Given the description of an element on the screen output the (x, y) to click on. 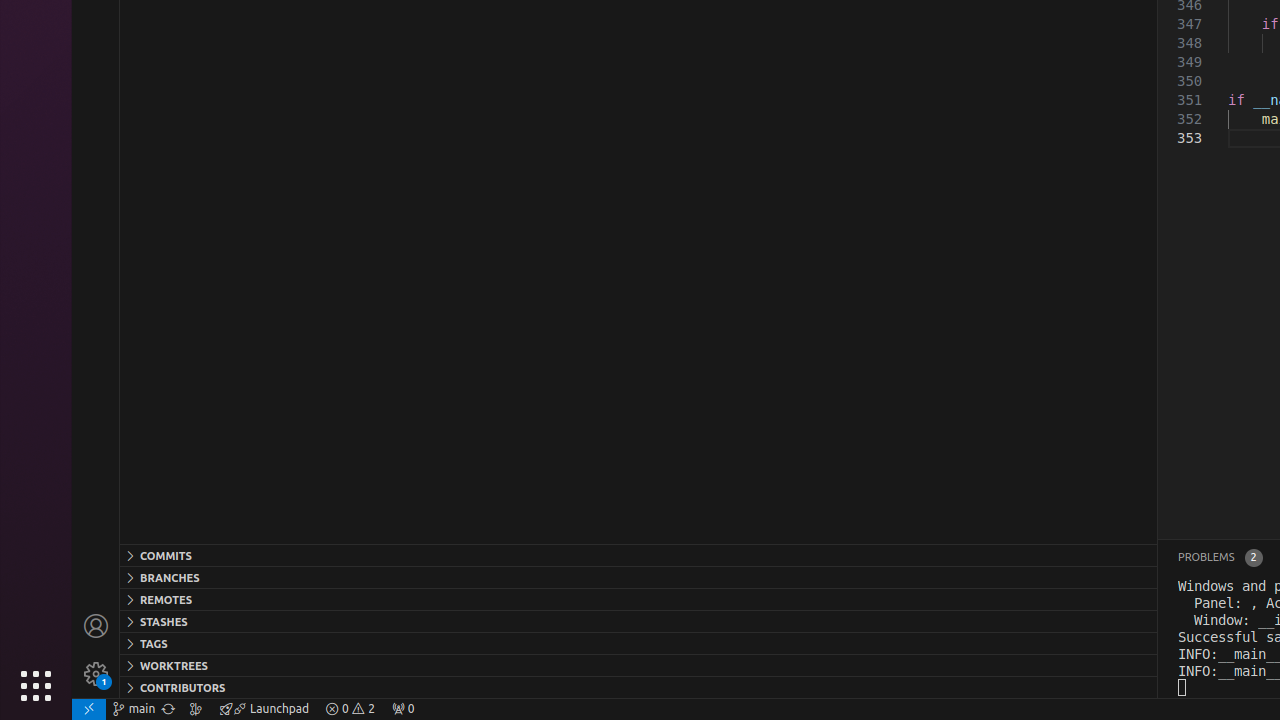
rocket gitlens-unplug Launchpad, GitLens Launchpad ᴘʀᴇᴠɪᴇᴡ    &mdash;    [$(question)](command:gitlens.launchpad.indicator.action?%22info%22 "What is this?") [$(gear)](command:workbench.action.openSettings?%22gitlens.launchpad%22 "Settings")  |  [$(circle-slash) Hide](command:gitlens.launchpad.indicator.action?%22hide%22 "Hide") --- [Launchpad](command:gitlens.launchpad.indicator.action?%info%22 "Learn about Launchpad") organizes your pull requests into actionable groups to help you focus and keep your team unblocked. It's always accessible using the `GitLens: Open Launchpad` command from the Command Palette. --- [Connect an integration](command:gitlens.showLaunchpad?%7B%22source%22%3A%22launchpad-indicator%22%7D "Connect an integration") to get started. Element type: push-button (264, 709)
Remotes Section Element type: push-button (638, 599)
Worktrees Section Element type: push-button (638, 665)
